Given the description of an element on the screen output the (x, y) to click on. 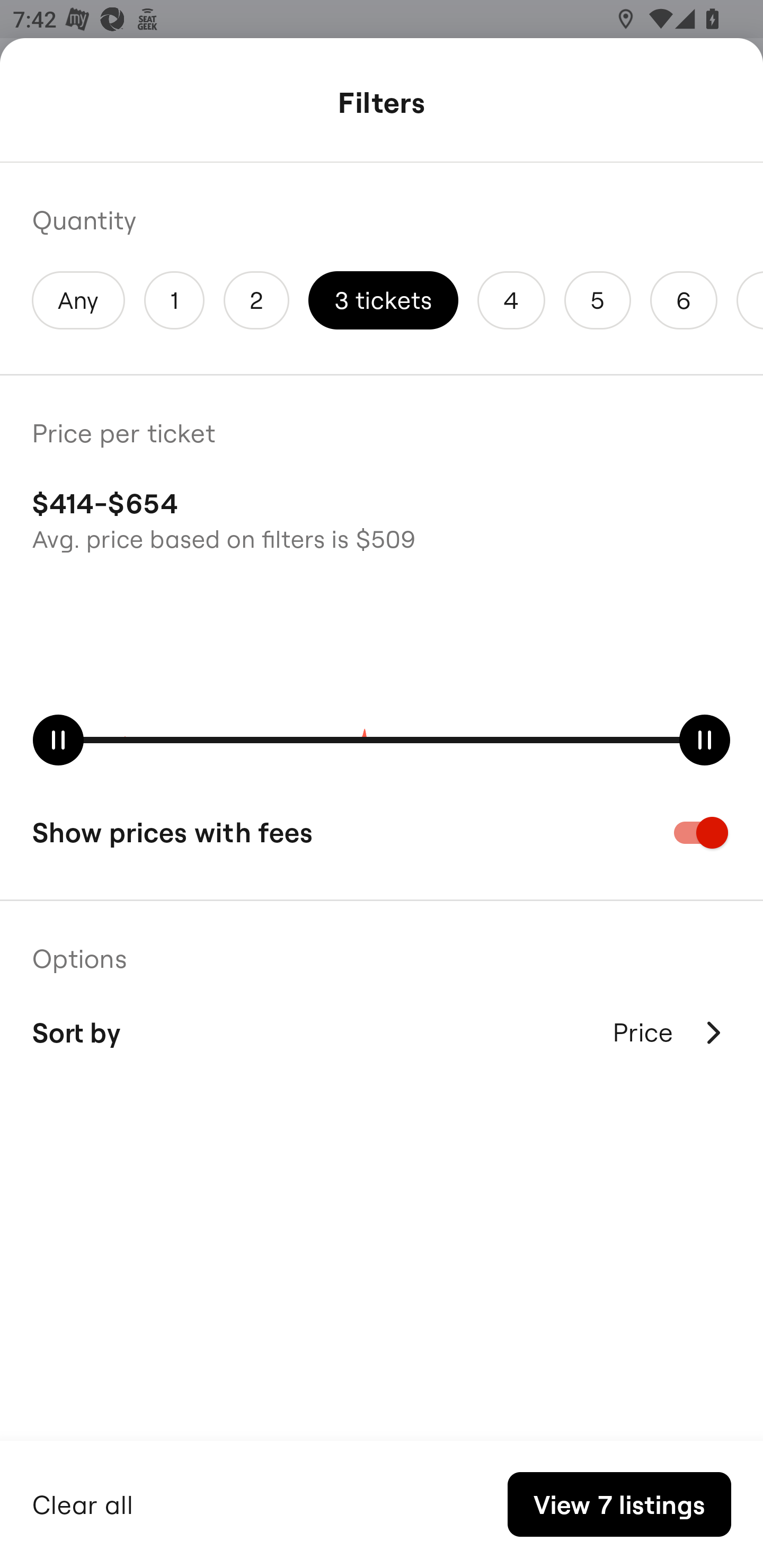
Any (78, 300)
1 (173, 300)
2 (256, 300)
3 tickets (383, 300)
4 (511, 300)
5 (597, 300)
6 (684, 300)
$414-$654 Avg. price based on filters is $509 (381, 518)
Show prices with fees (381, 832)
Sort by Price (381, 1032)
Clear all (83, 1502)
View 7 listings (618, 1504)
